Given the description of an element on the screen output the (x, y) to click on. 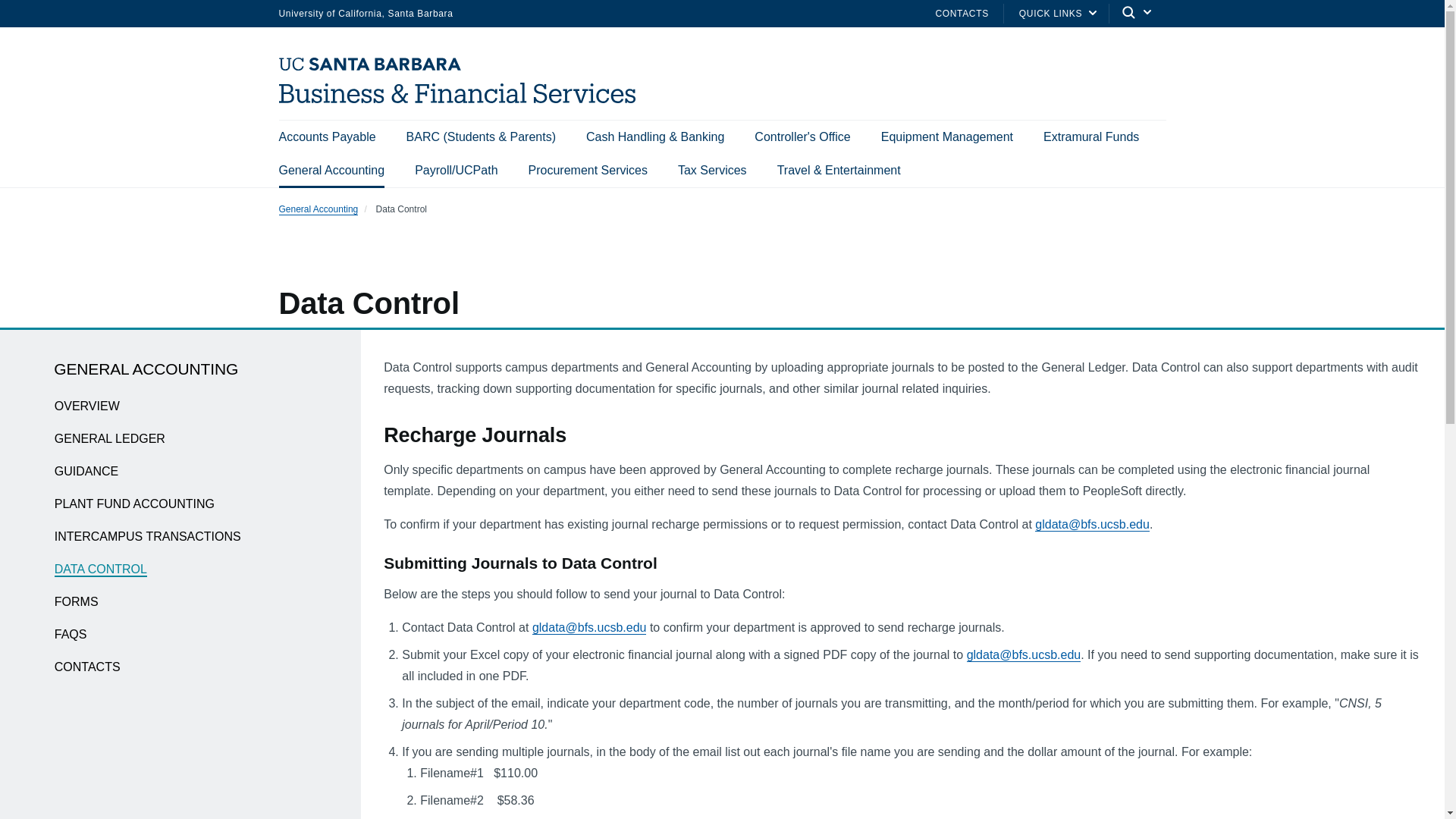
University of California, Santa Barbara (365, 12)
General Accounting (318, 209)
FAQS (71, 635)
CONTACTS (87, 667)
PLANT FUND ACCOUNTING (134, 504)
Tax Services (712, 170)
Controller's Office (802, 136)
CONTACTS (961, 12)
INTERCAMPUS TRANSACTIONS (148, 536)
Procurement Services (587, 170)
DATA CONTROL (101, 569)
GENERAL LEDGER (110, 439)
Equipment Management (946, 136)
Extramural Funds (1090, 136)
General Accounting (332, 170)
